Given the description of an element on the screen output the (x, y) to click on. 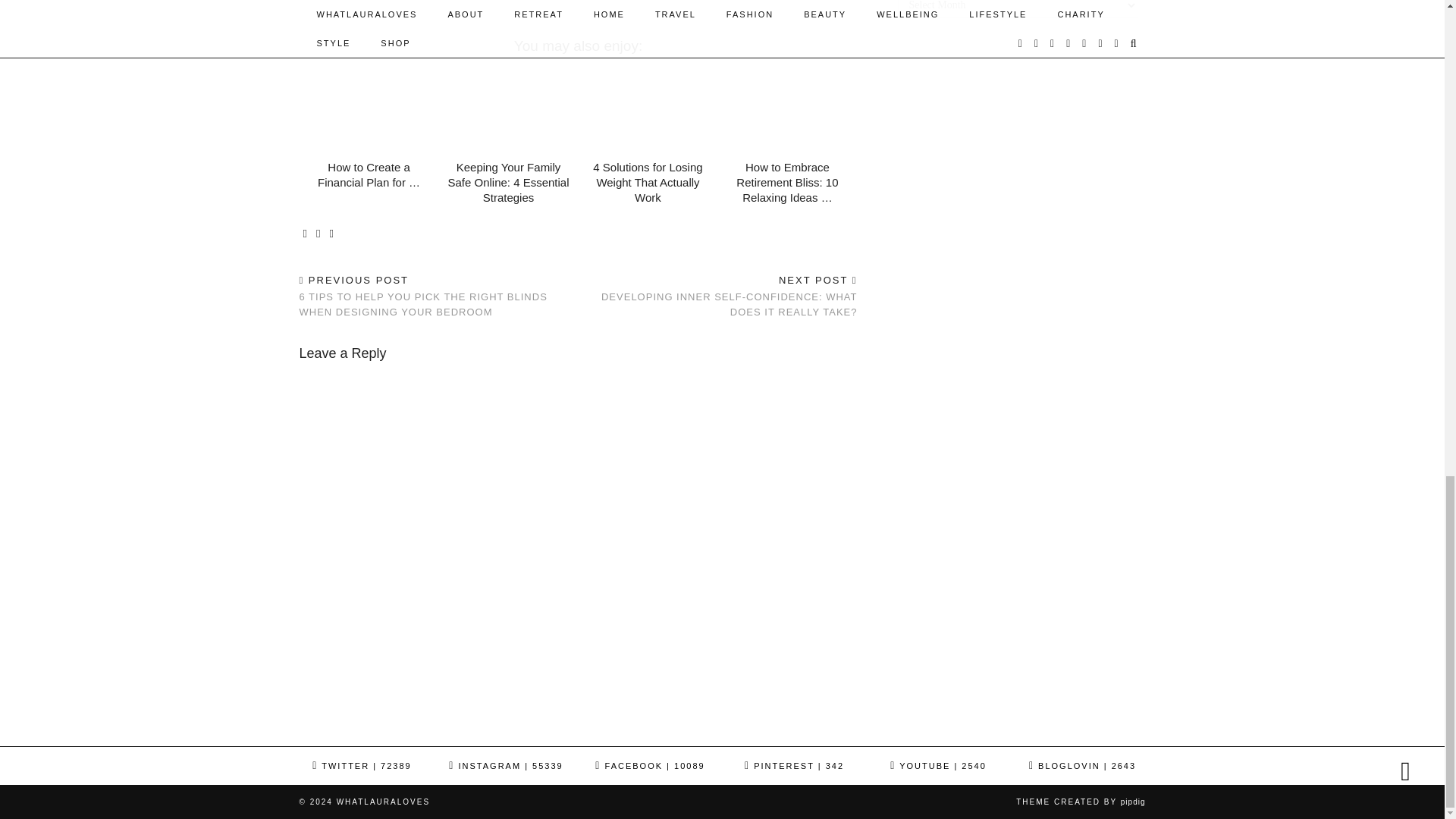
4 Solutions for Losing Weight That Actually Work (646, 181)
Keeping Your Family Safe Online: 4 Essential Strategies (508, 111)
Keeping Your Family Safe Online: 4 Essential Strategies (507, 181)
How to Create a Financial Plan for Long-Term Peace of Mind (368, 174)
How to Create a Financial Plan for Long-Term Peace of Mind (368, 111)
